Given the description of an element on the screen output the (x, y) to click on. 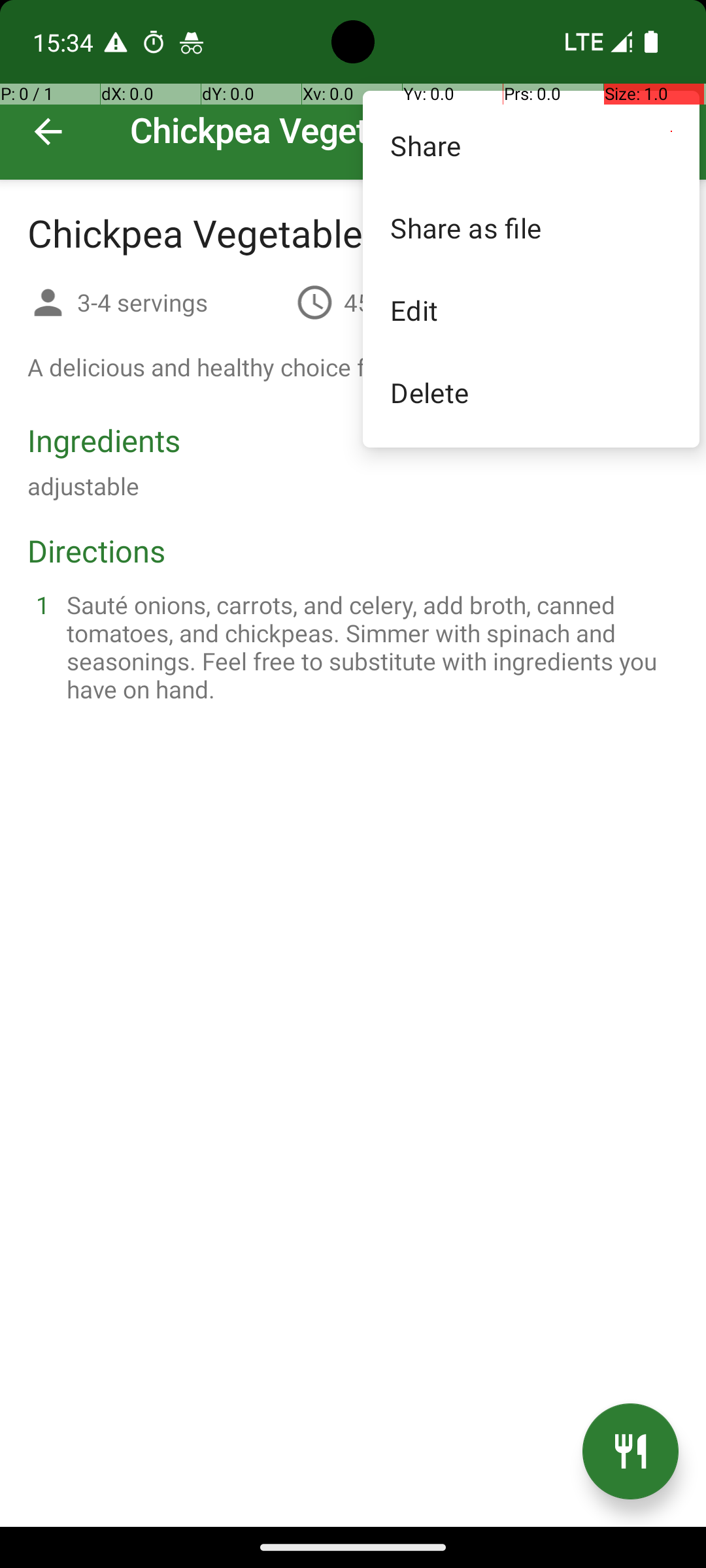
Share as file Element type: android.widget.TextView (531, 227)
Edit Element type: android.widget.TextView (531, 309)
